Given the description of an element on the screen output the (x, y) to click on. 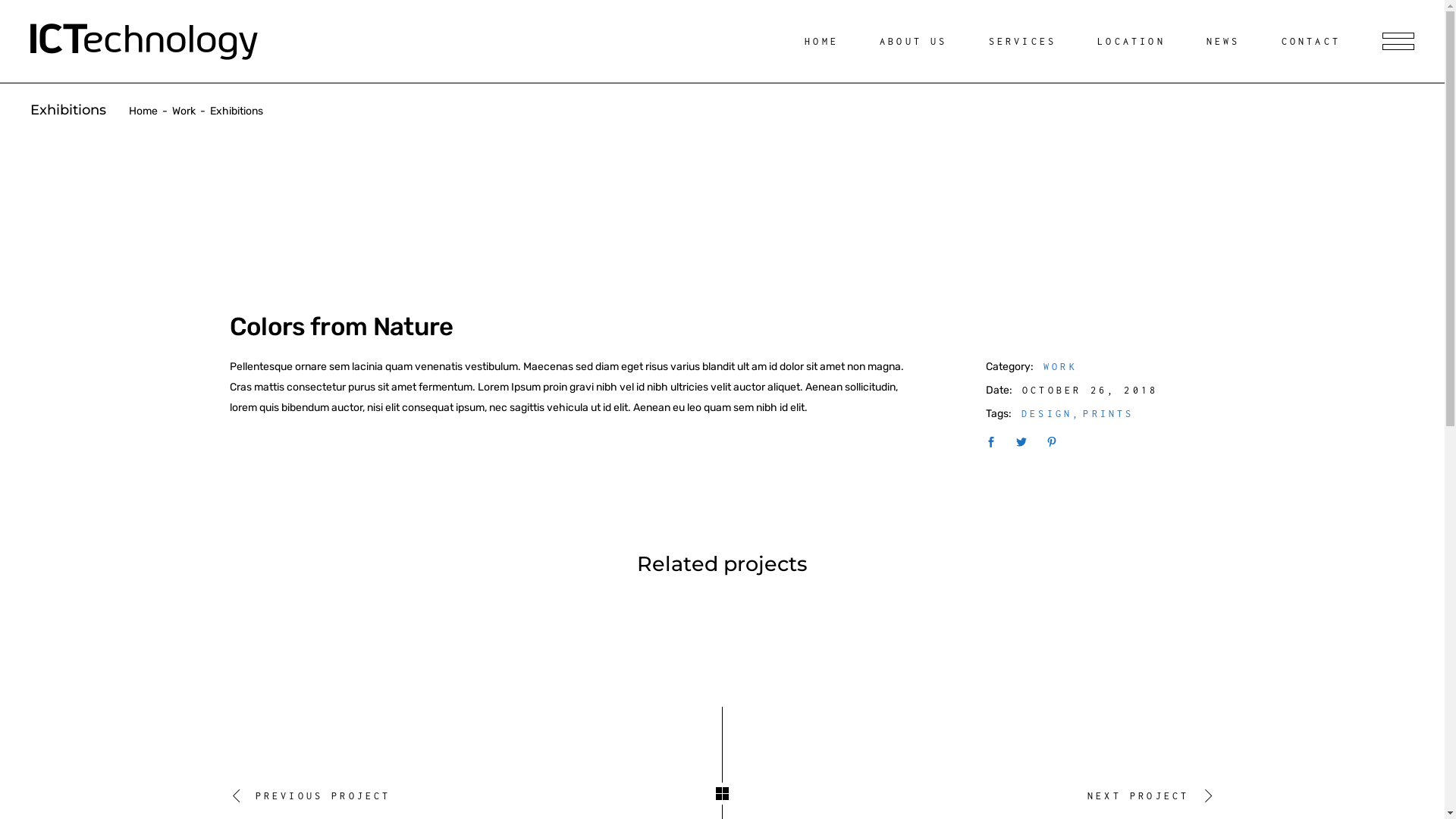
SERVICES Element type: text (1030, 40)
CONTACT Element type: text (1318, 40)
Home Element type: text (142, 110)
DESIGN Element type: text (1050, 413)
NEWS Element type: text (1230, 40)
LOCATION Element type: text (1138, 40)
Work Element type: text (183, 110)
WORK Element type: text (1060, 366)
ABOUT US Element type: text (920, 40)
PRINTS Element type: text (1107, 413)
HOME Element type: text (828, 40)
